Given the description of an element on the screen output the (x, y) to click on. 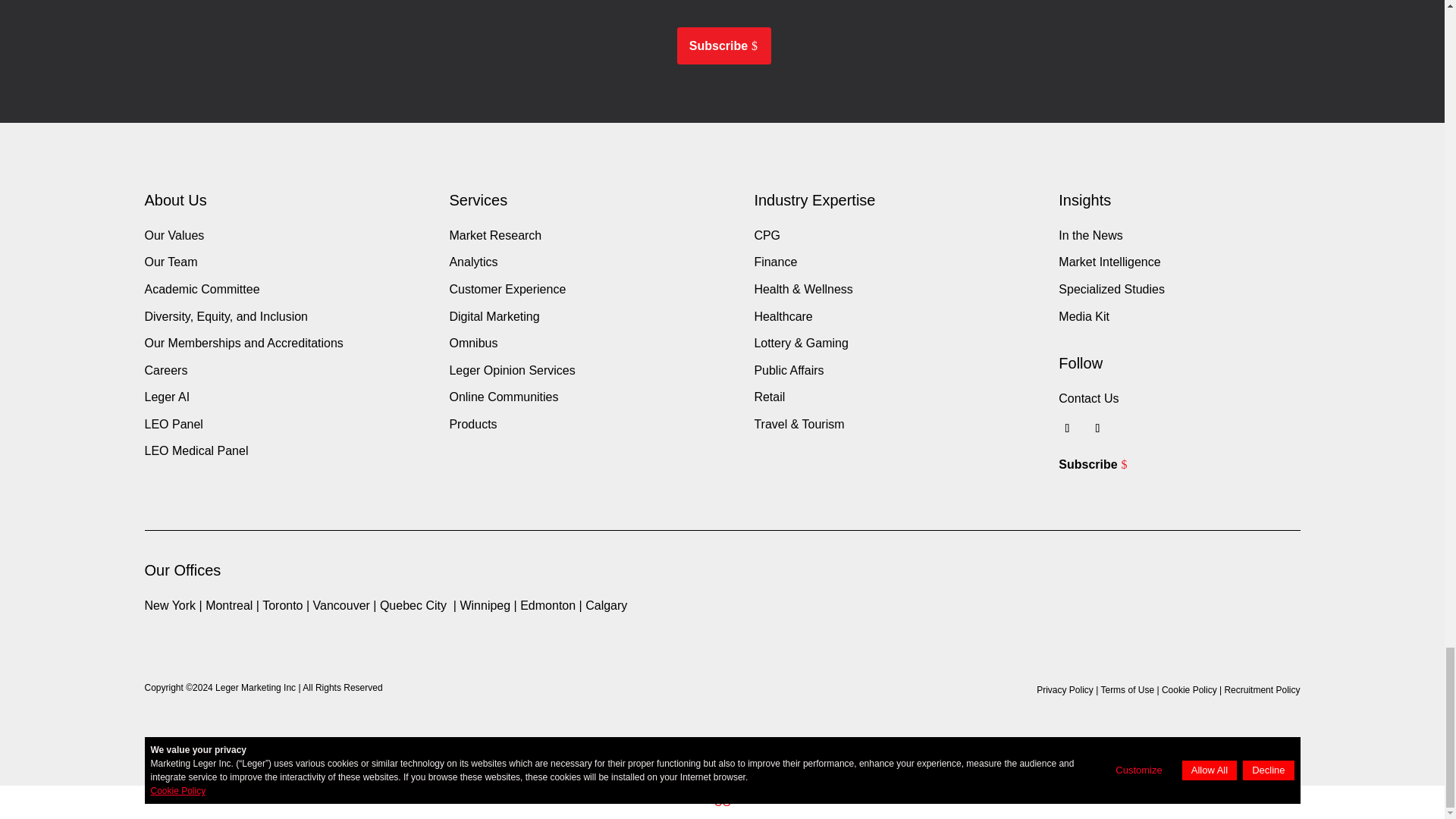
Follow on LinkedIn (1096, 428)
Follow on X (1066, 428)
